Given the description of an element on the screen output the (x, y) to click on. 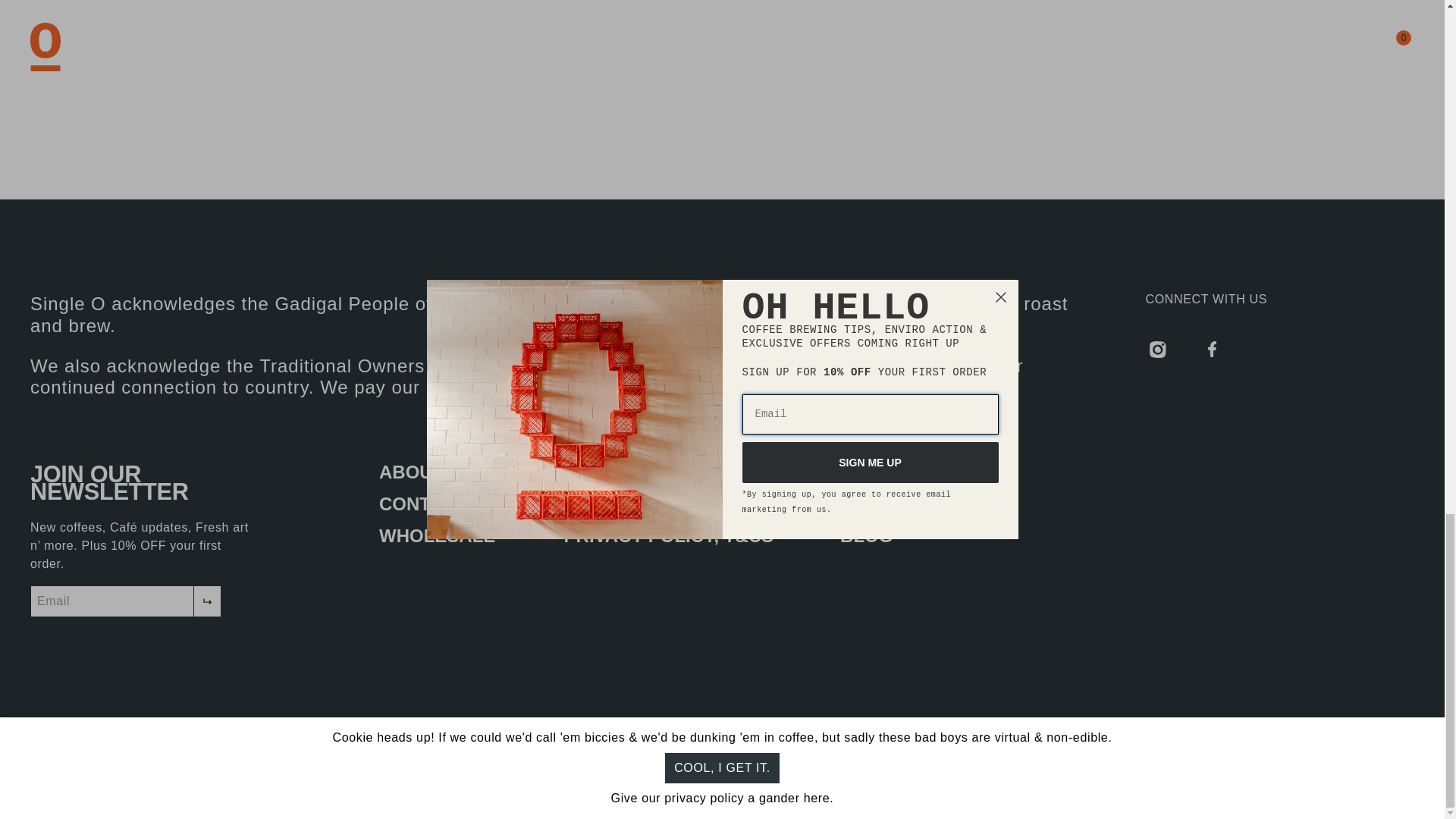
Facebook (1211, 349)
Instagram (1157, 349)
